Given the description of an element on the screen output the (x, y) to click on. 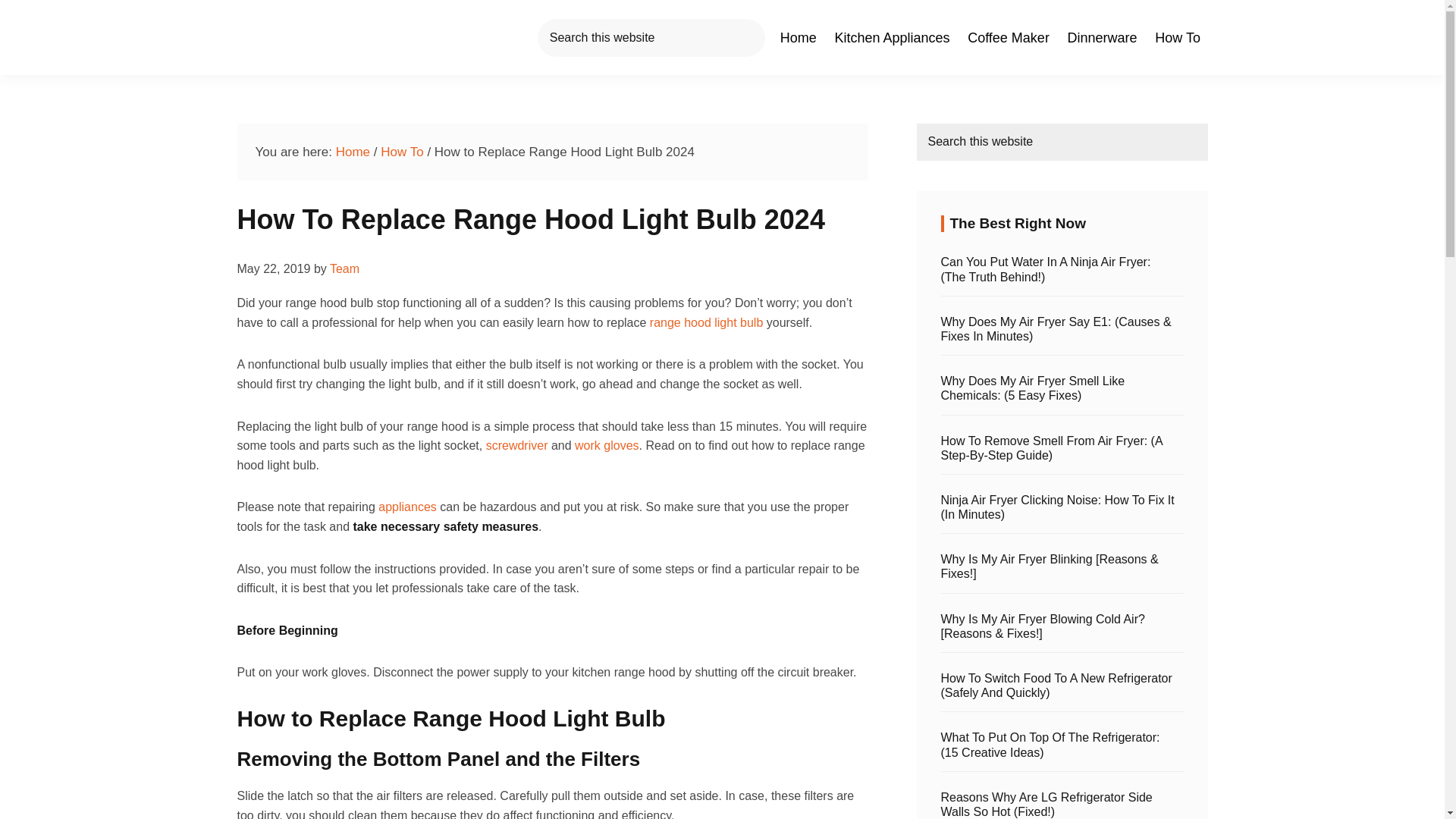
Search (1229, 138)
How To (401, 151)
work gloves (607, 445)
Search (55, 18)
appliances (407, 506)
screwdriver (517, 445)
range hood light bulb (705, 322)
How To (1178, 37)
Kitchen Appliances (891, 37)
Dinnerware (1101, 37)
